Given the description of an element on the screen output the (x, y) to click on. 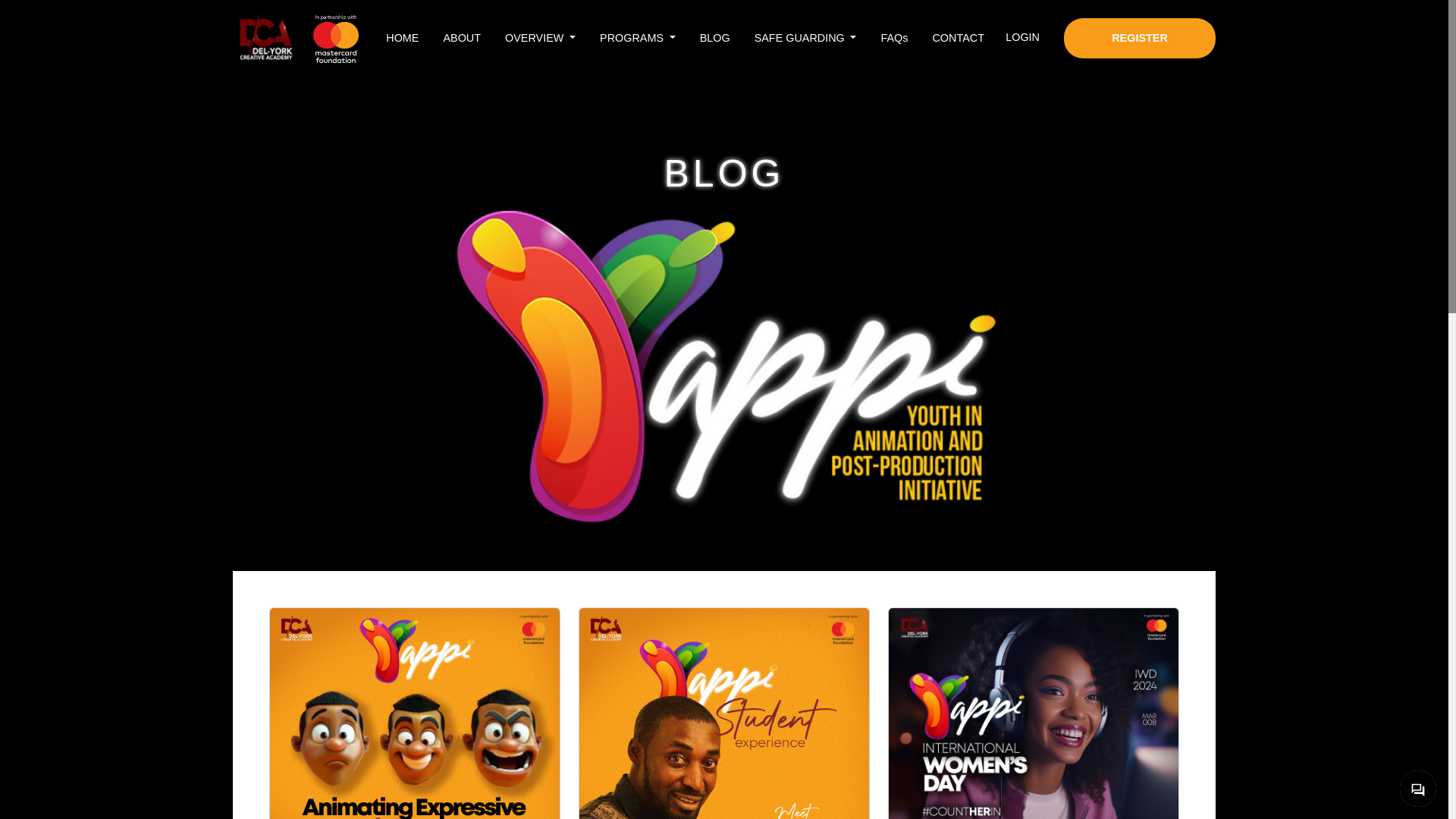
CONTACT (958, 38)
ABOUT (461, 38)
OVERVIEW (539, 38)
REGISTER (1139, 38)
BLOG (715, 38)
HOME (402, 38)
FAQs (894, 38)
SAFE GUARDING (805, 38)
PROGRAMS (637, 38)
LOGIN (1021, 37)
